Given the description of an element on the screen output the (x, y) to click on. 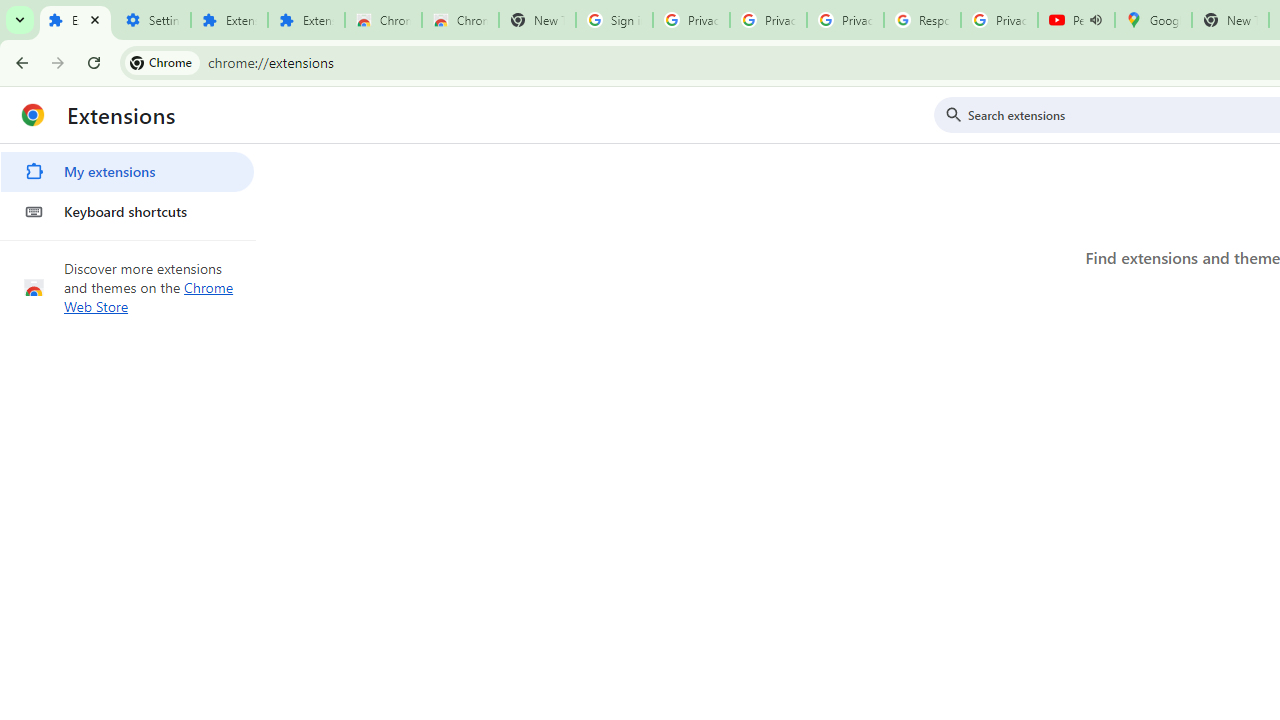
Settings (151, 20)
Chrome Web Store - Themes (460, 20)
AutomationID: sectionMenu (128, 187)
Chrome Web Store (383, 20)
Personalized AI for you | Gemini - YouTube - Audio playing (1076, 20)
Sign in - Google Accounts (614, 20)
Extensions (306, 20)
